Given the description of an element on the screen output the (x, y) to click on. 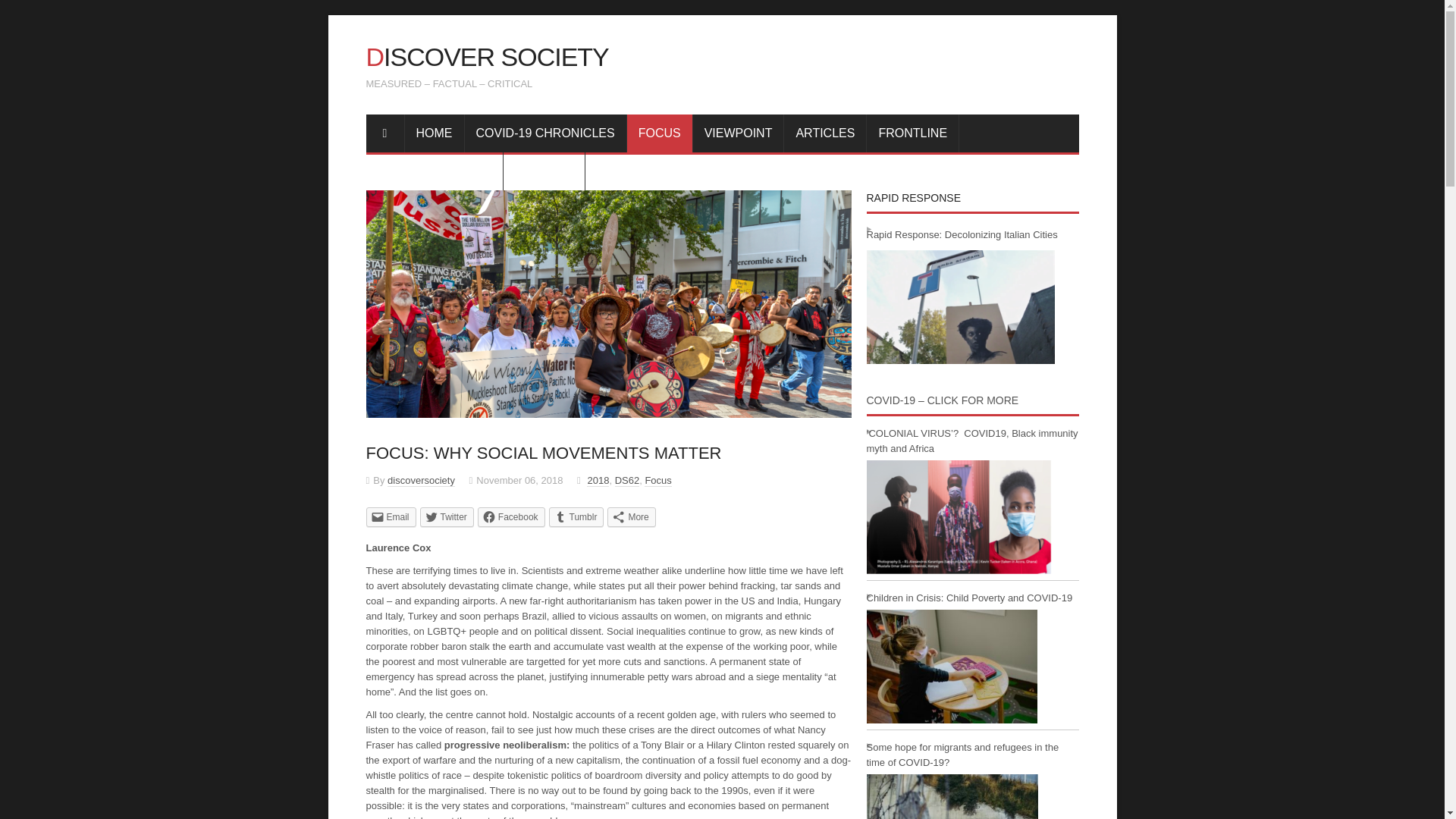
Email (389, 516)
Posts by discoversociety (420, 480)
Twitter (447, 516)
Focus (658, 480)
Click to share on Facebook (510, 516)
DISCOVER SOCIETY (486, 56)
ARTICLES (825, 132)
Tumblr (576, 516)
FRONTLINE (912, 132)
Facebook (510, 516)
